Given the description of an element on the screen output the (x, y) to click on. 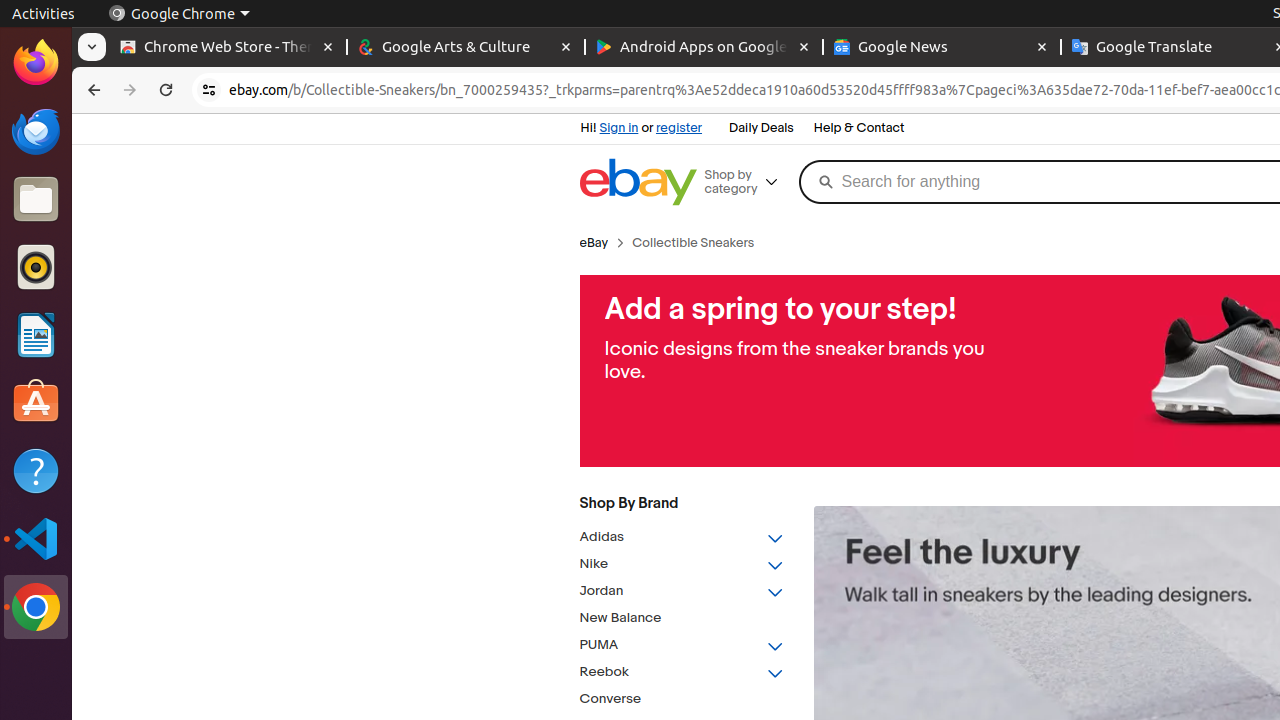
Visual Studio Code Element type: push-button (36, 538)
Android Apps on Google Play - Memory usage - 60.7 MB Element type: page-tab (704, 47)
LibreOffice Writer Element type: push-button (36, 334)
View site information Element type: push-button (209, 90)
Help & Contact Element type: link (859, 129)
